Given the description of an element on the screen output the (x, y) to click on. 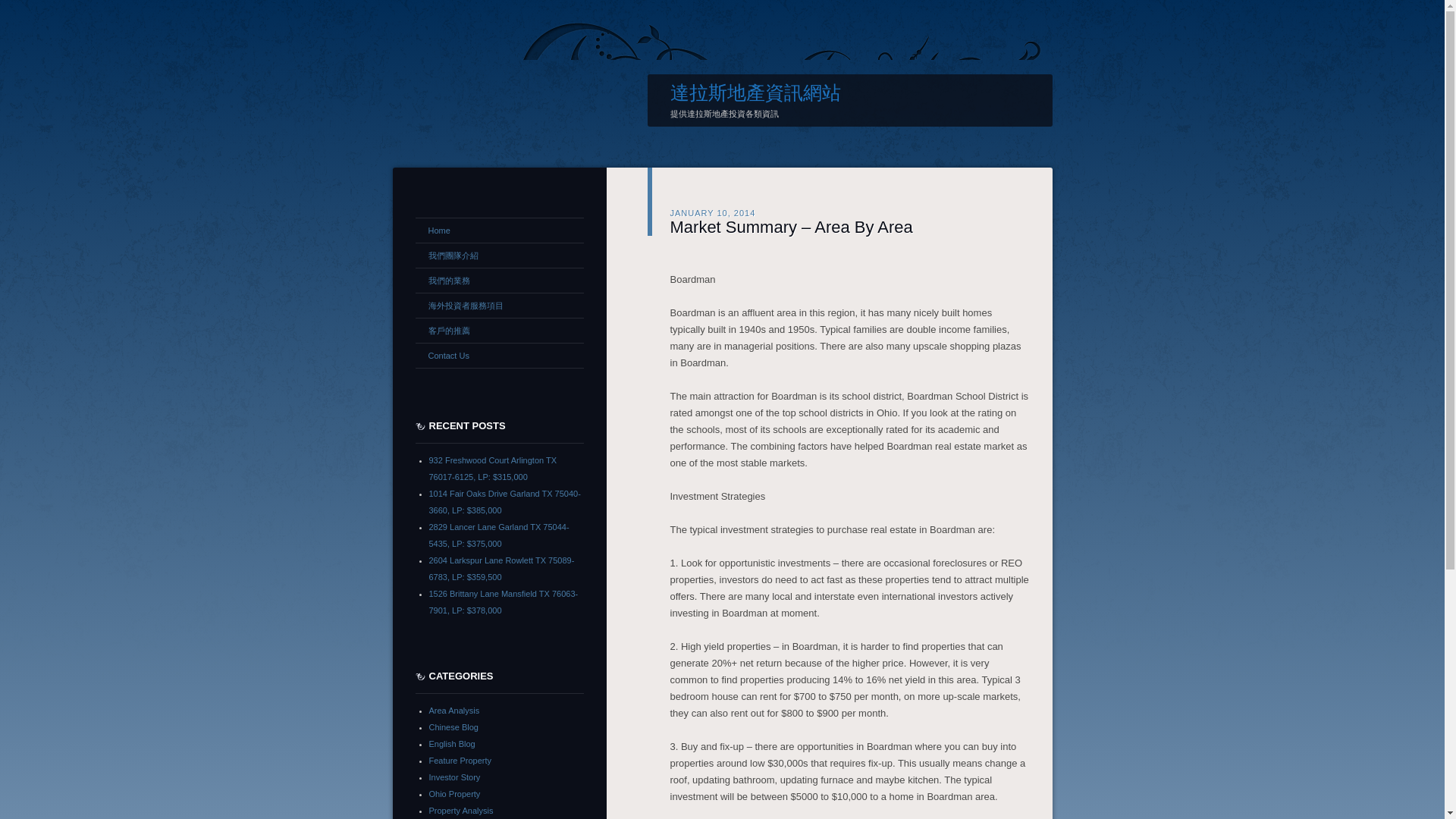
Chinese Blog (454, 726)
4:31 pm (712, 212)
Property Analysis (461, 809)
JANUARY 10, 2014 (712, 212)
English Blog (452, 742)
Feature Property (460, 759)
Home (498, 230)
Ohio Property (454, 792)
Contact Us (498, 354)
Area Analysis (454, 709)
